Given the description of an element on the screen output the (x, y) to click on. 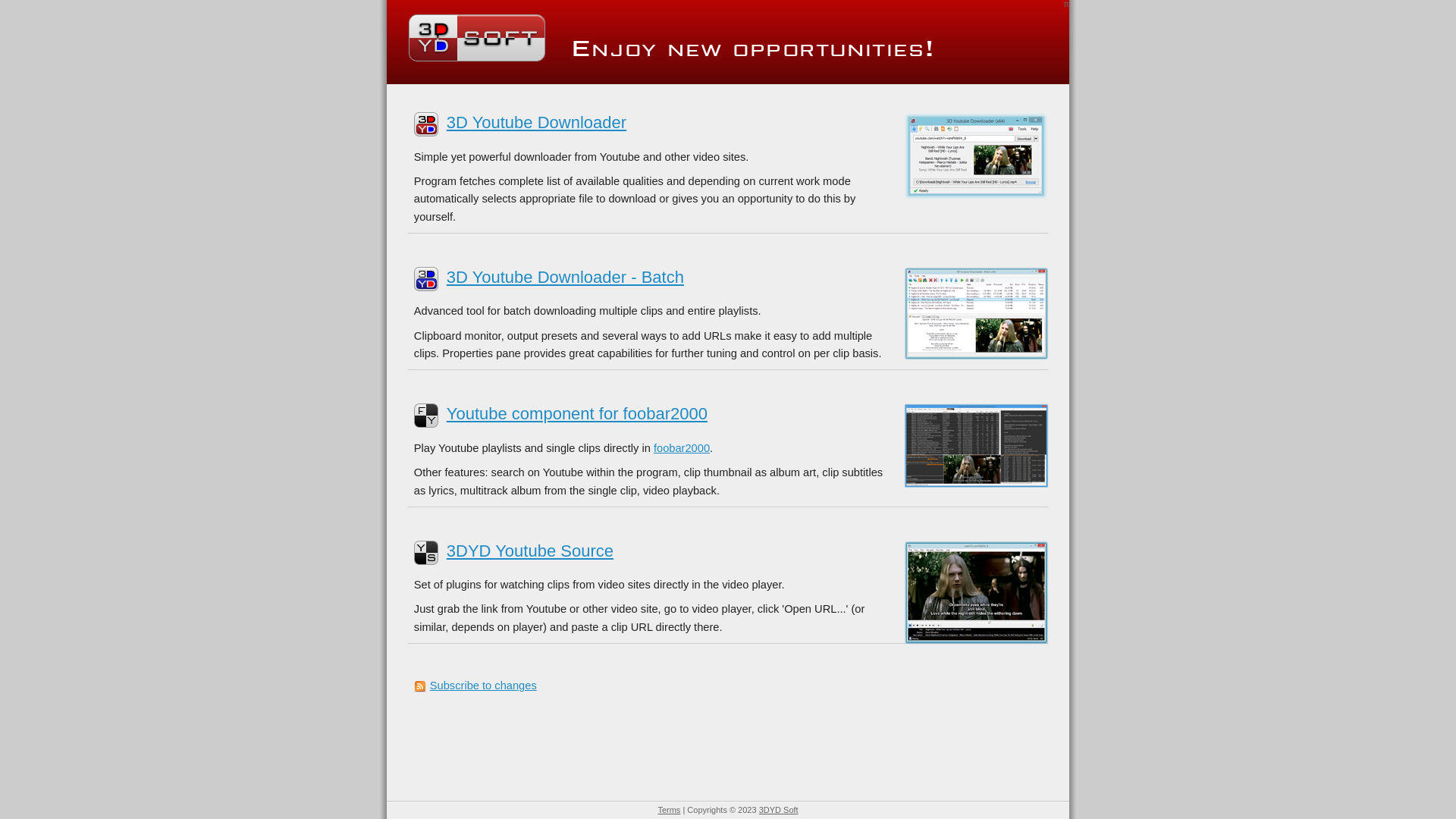
3DYD Youtube Source Element type: text (529, 550)
Subscribe to changes Element type: text (482, 685)
3D Youtube Downloader - Batch Element type: text (565, 276)
3D Youtube Downloader Element type: text (536, 121)
Terms Element type: text (668, 809)
foobar2000 Element type: text (681, 448)
Youtube component for foobar2000 Element type: text (576, 413)
3DYD Soft Element type: text (778, 809)
